Given the description of an element on the screen output the (x, y) to click on. 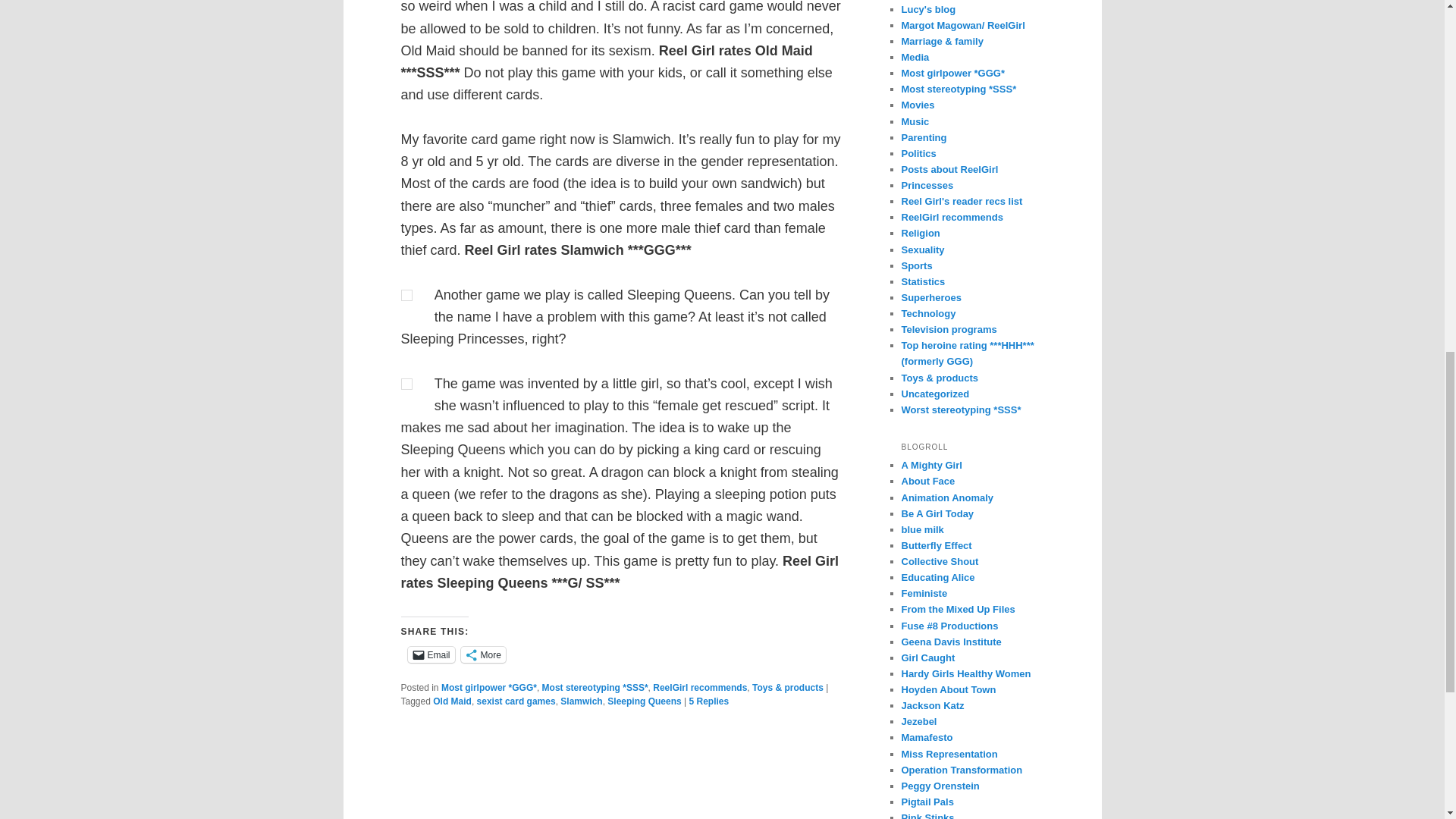
Sleeping Queens (644, 701)
sexist card games (516, 701)
sleepingqueens (406, 383)
Old Maid (451, 701)
More (483, 654)
Click to email a link to a friend (430, 654)
Lucy's blog (928, 9)
ReelGirl recommends (699, 687)
Email (430, 654)
Slamwich (581, 701)
slamwich (406, 295)
5 Replies (708, 701)
